Given the description of an element on the screen output the (x, y) to click on. 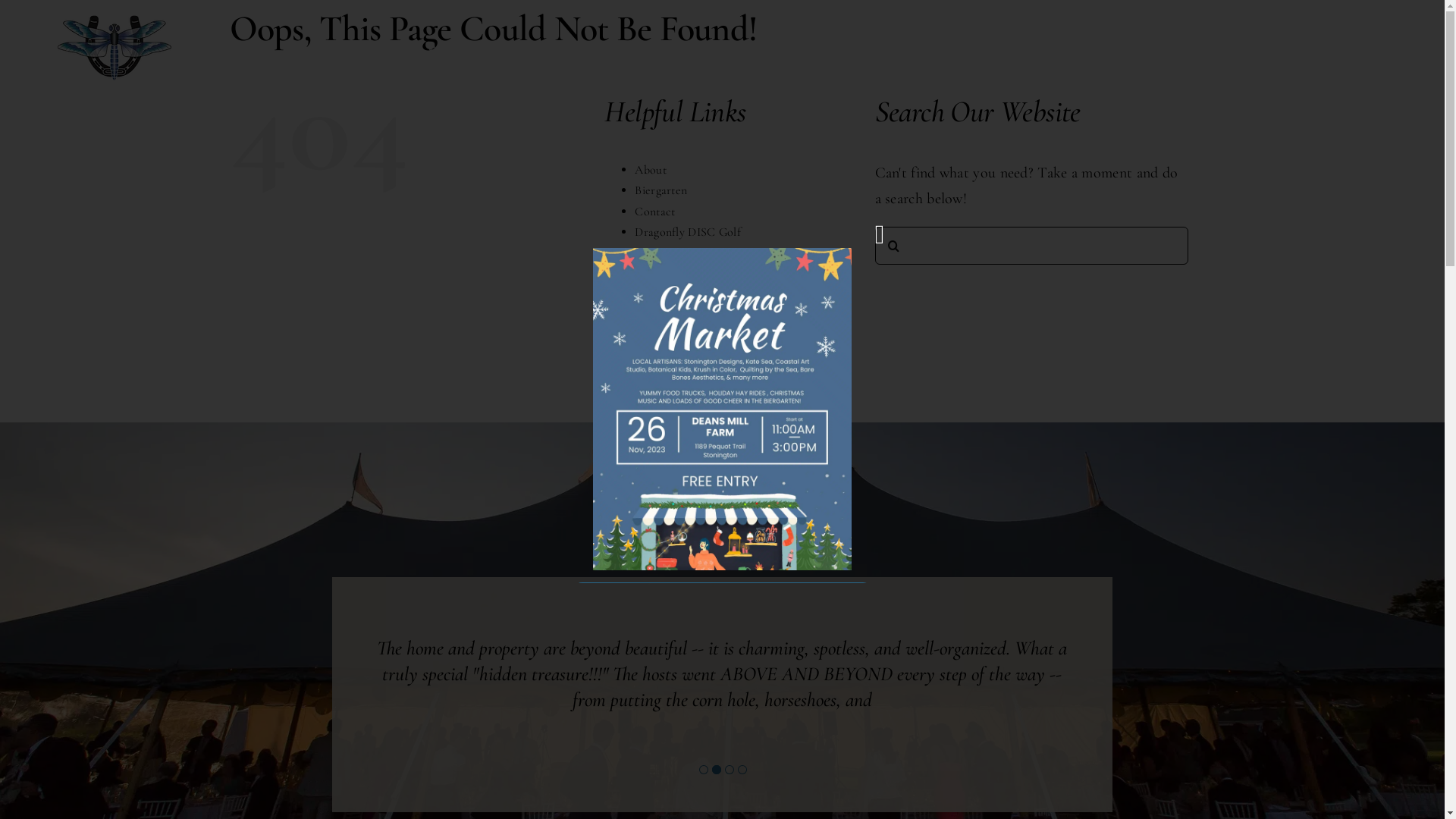
Home Element type: text (649, 336)
Dragonfly Inn Element type: text (669, 273)
Dragonfly Inn Element type: text (889, 47)
Weddings & Private Events Element type: text (701, 398)
Events Calender Element type: text (675, 294)
Event Calender Element type: text (1306, 47)
About Element type: text (341, 47)
Biergarten Element type: text (660, 189)
About Element type: text (650, 169)
Contact Element type: text (654, 211)
Weddings & Private Events Element type: text (513, 47)
New Homepage Element type: text (674, 356)
DDF19F3D-EA5D-4232-9DC6-AD42E74A7C22 Element type: hover (721, 255)
Dragonfly Equestrian Center Element type: text (706, 252)
Gallery Element type: text (652, 315)
Privacy Policy Element type: text (670, 377)
Equestrian Center Element type: text (722, 47)
Biergarten Element type: text (1158, 47)
Dragonfly DISC Golf Element type: text (687, 231)
DISC Golf Element type: text (1029, 47)
